Given the description of an element on the screen output the (x, y) to click on. 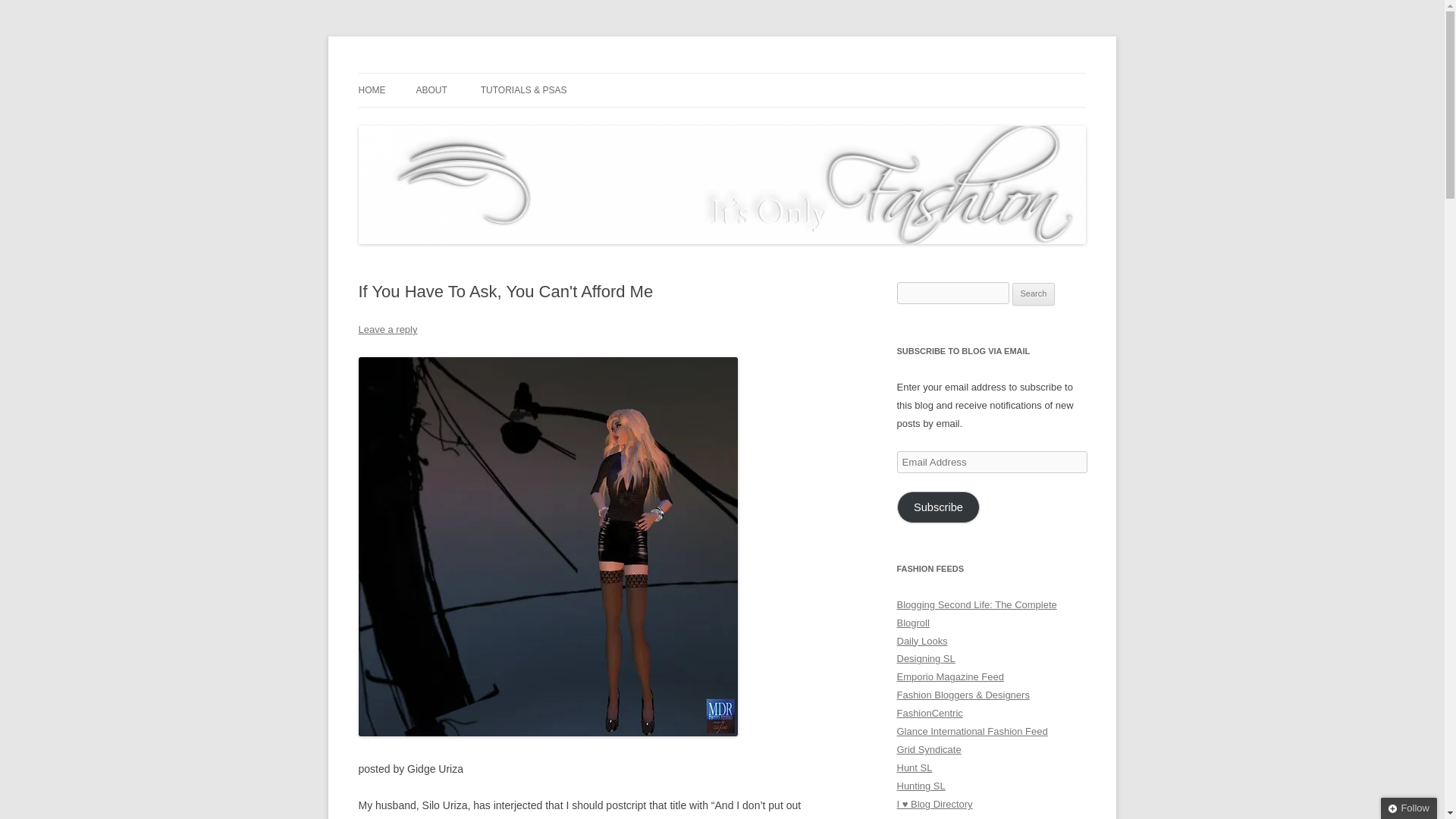
Leave a reply (387, 328)
Search (1033, 293)
Search (1033, 293)
Its Only Fashion (434, 72)
ABOUT (430, 90)
